Given the description of an element on the screen output the (x, y) to click on. 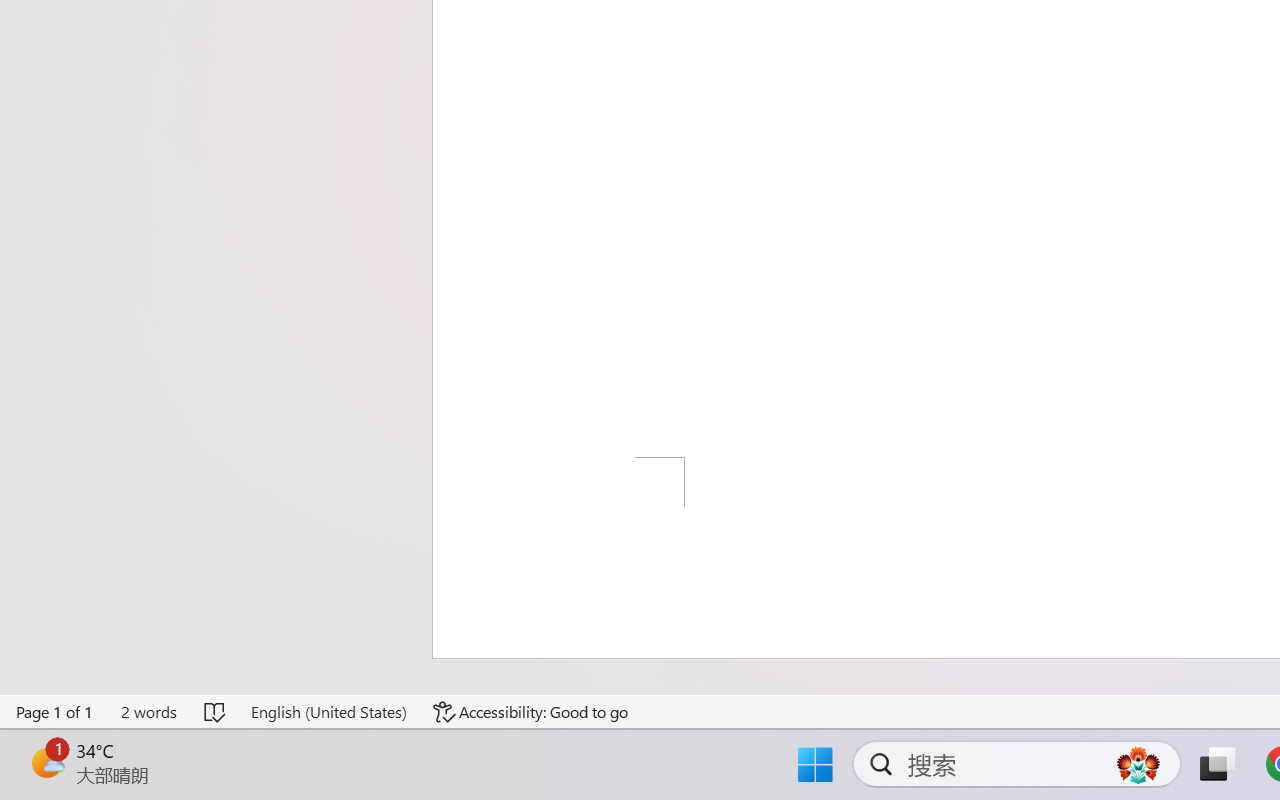
AutomationID: DynamicSearchBoxGleamImage (1138, 764)
Accessibility Checker Accessibility: Good to go (531, 712)
Language English (United States) (328, 712)
Page Number Page 1 of 1 (55, 712)
Spelling and Grammar Check No Errors (216, 712)
AutomationID: BadgeAnchorLargeTicker (46, 762)
